Given the description of an element on the screen output the (x, y) to click on. 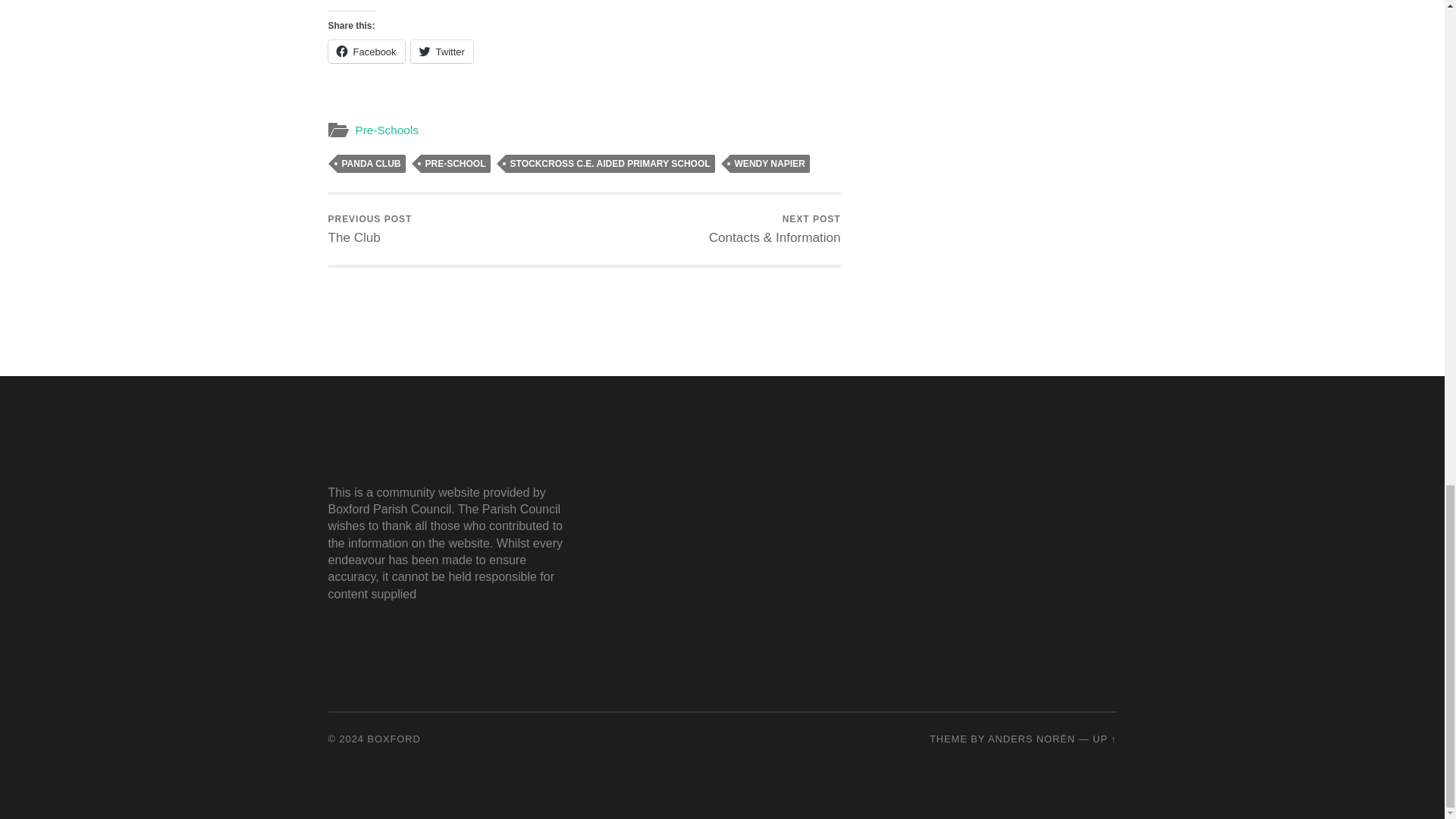
Facebook (365, 51)
Twitter (441, 51)
To the top (1104, 738)
Click to share on Twitter (441, 51)
Click to share on Facebook (365, 51)
